Given the description of an element on the screen output the (x, y) to click on. 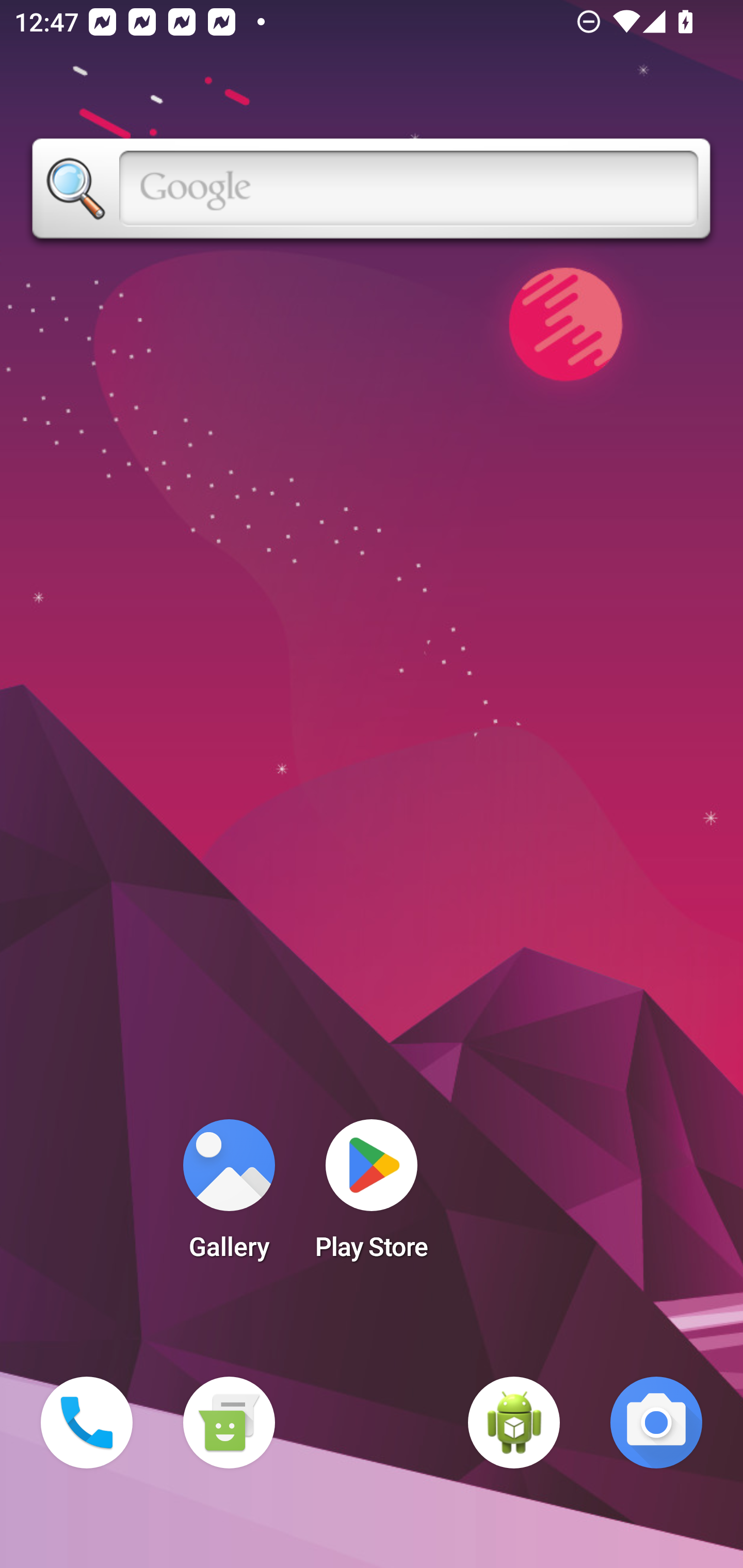
Gallery (228, 1195)
Play Store (371, 1195)
Phone (86, 1422)
Messaging (228, 1422)
WebView Browser Tester (513, 1422)
Camera (656, 1422)
